Given the description of an element on the screen output the (x, y) to click on. 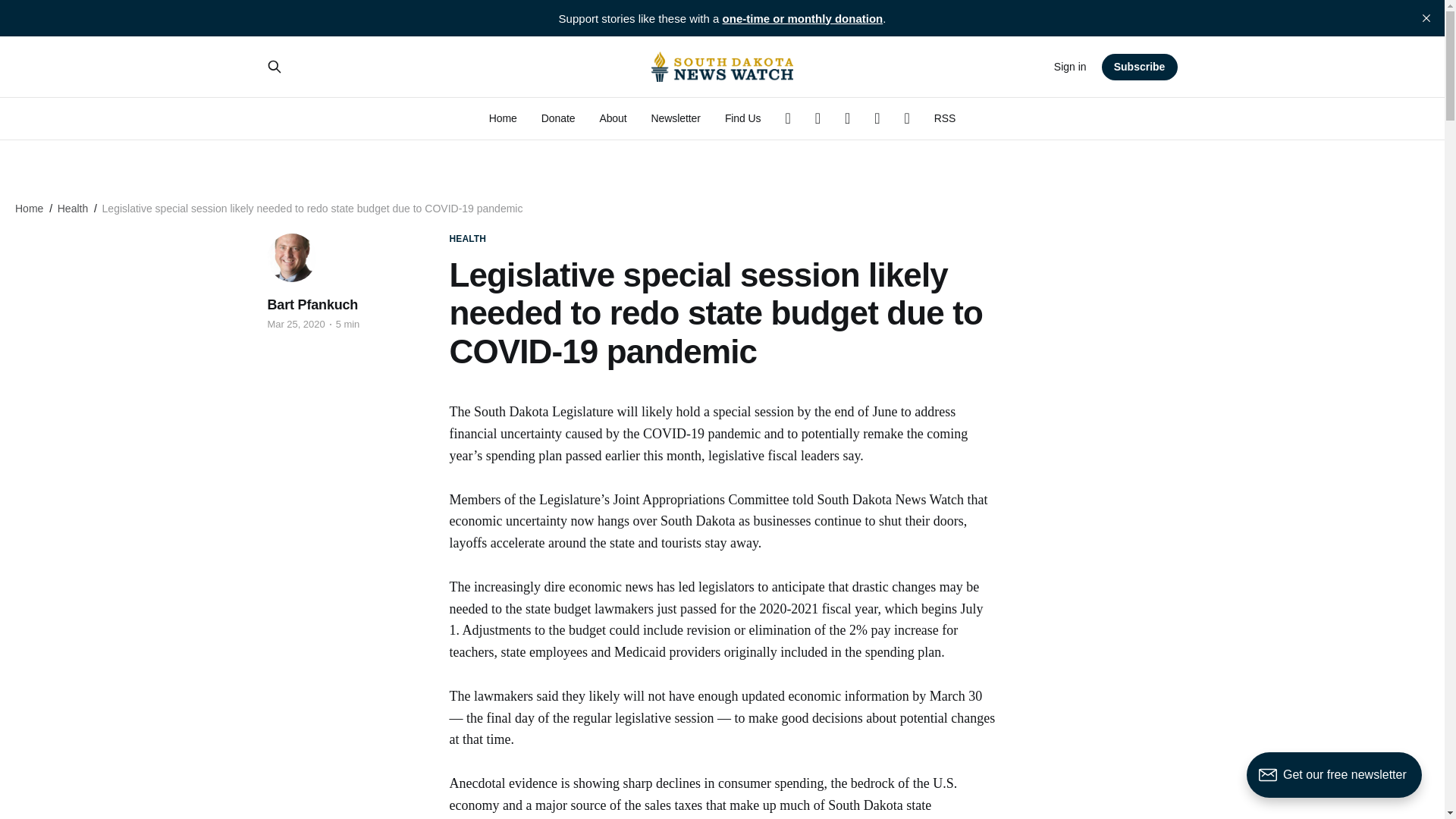
Health (72, 208)
Bart Pfankuch (312, 304)
RSS (945, 118)
Sign in (1070, 66)
Newsletter (675, 118)
Donate (558, 118)
Subscribe (1139, 66)
About (612, 118)
Home (28, 208)
Find Us (743, 118)
one-time or monthly donation (802, 18)
Home (502, 118)
HEALTH (467, 238)
